Given the description of an element on the screen output the (x, y) to click on. 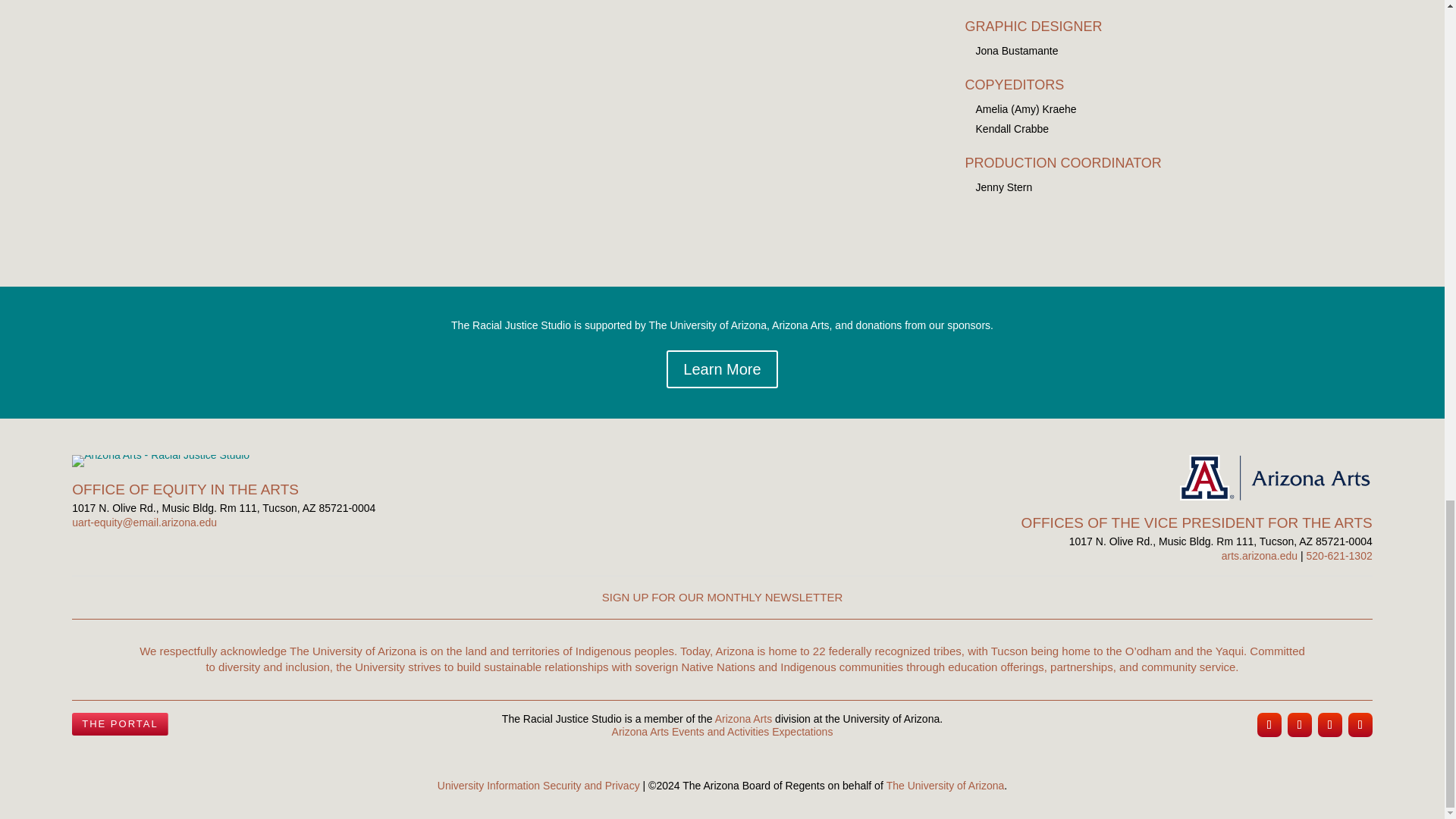
Arizona Arts (742, 718)
Arizona Arts Lockup (1275, 477)
SIGN UP FOR OUR MONTHLY NEWSLETTER (722, 596)
arts.arizona.edu (1259, 555)
520-621-1302 (1339, 555)
Follow on Instagram (1269, 724)
Follow on Youtube (1360, 724)
Follow on Facebook (1299, 724)
Learn More (721, 369)
Arizona Arts Events and Activities Expectations (721, 731)
